Given the description of an element on the screen output the (x, y) to click on. 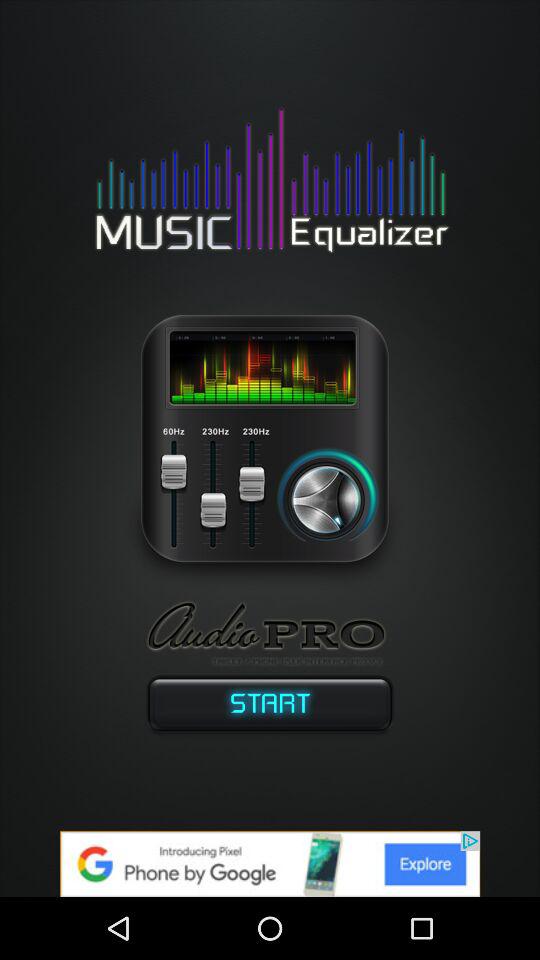
advertisement about google (270, 864)
